Given the description of an element on the screen output the (x, y) to click on. 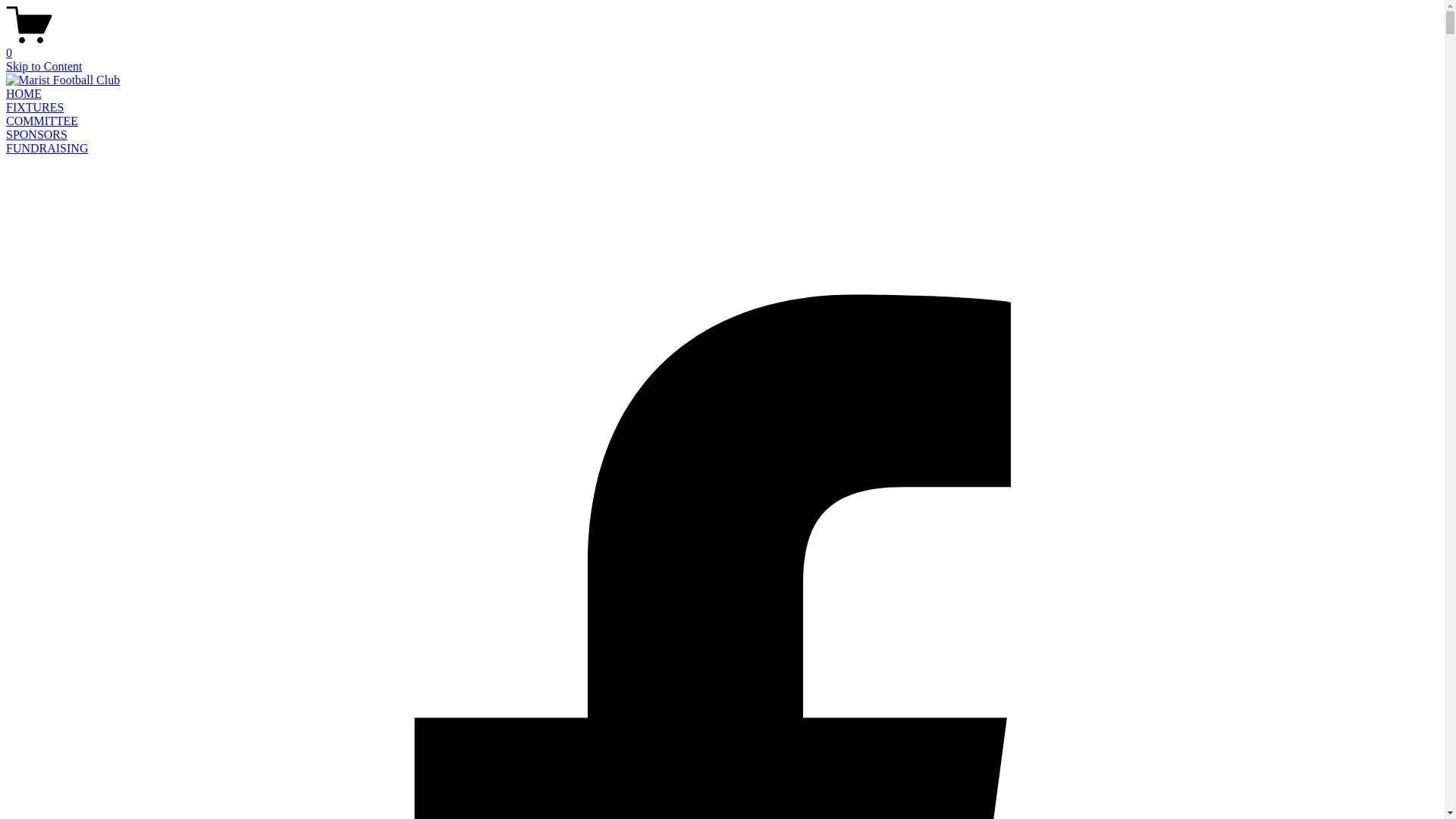
FUNDRAISING Element type: text (46, 147)
Skip to Content Element type: text (43, 65)
COMMITTEE Element type: text (42, 120)
FIXTURES Element type: text (34, 106)
SPONSORS Element type: text (36, 134)
HOME Element type: text (23, 93)
0 Element type: text (722, 45)
